Given the description of an element on the screen output the (x, y) to click on. 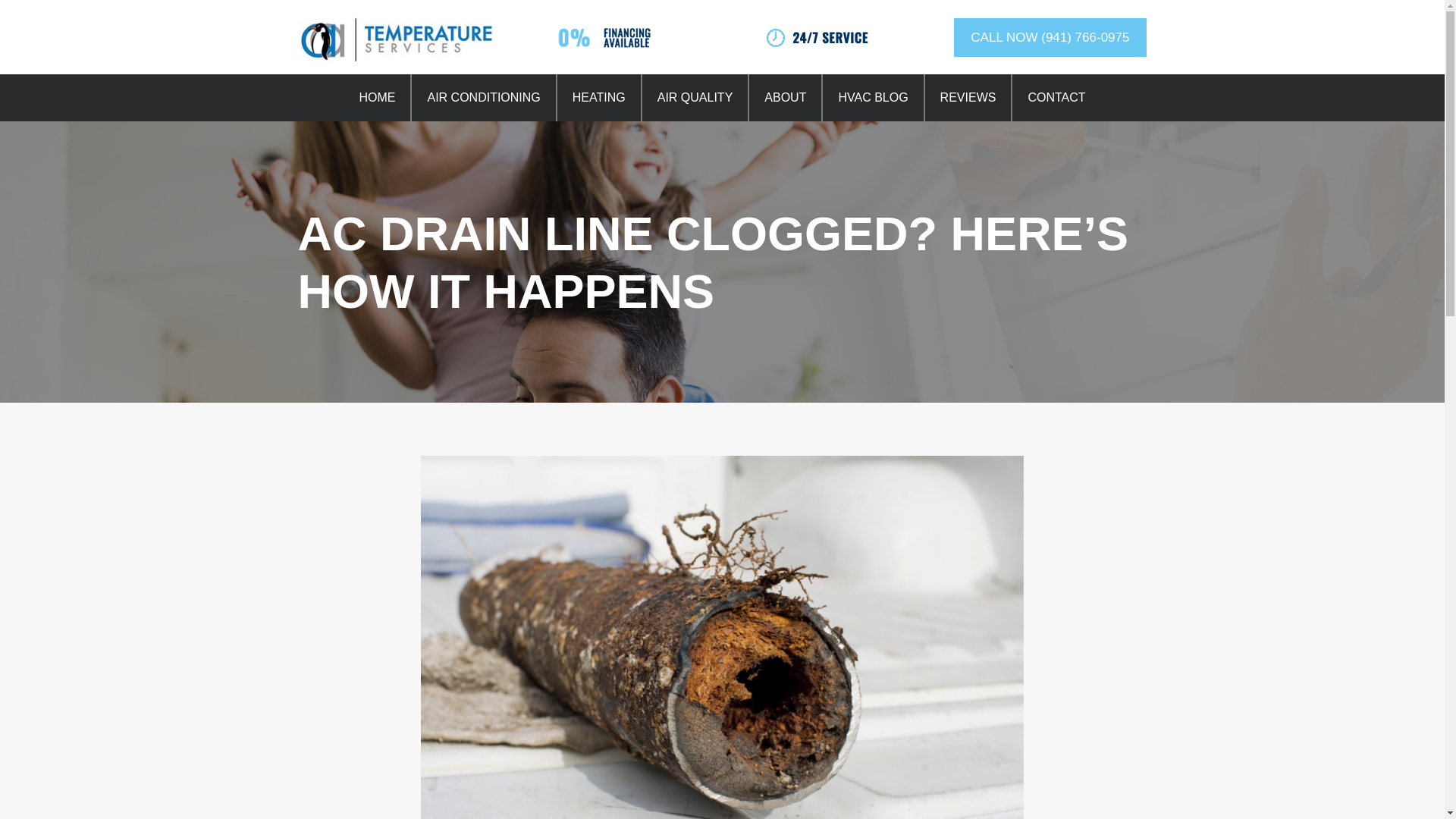
CONTACT (1055, 97)
HOME (376, 97)
ABOUT (785, 97)
HEATING (598, 97)
AIR QUALITY (695, 97)
AIR CONDITIONING (483, 97)
REVIEWS (967, 97)
HVAC BLOG (872, 97)
